Given the description of an element on the screen output the (x, y) to click on. 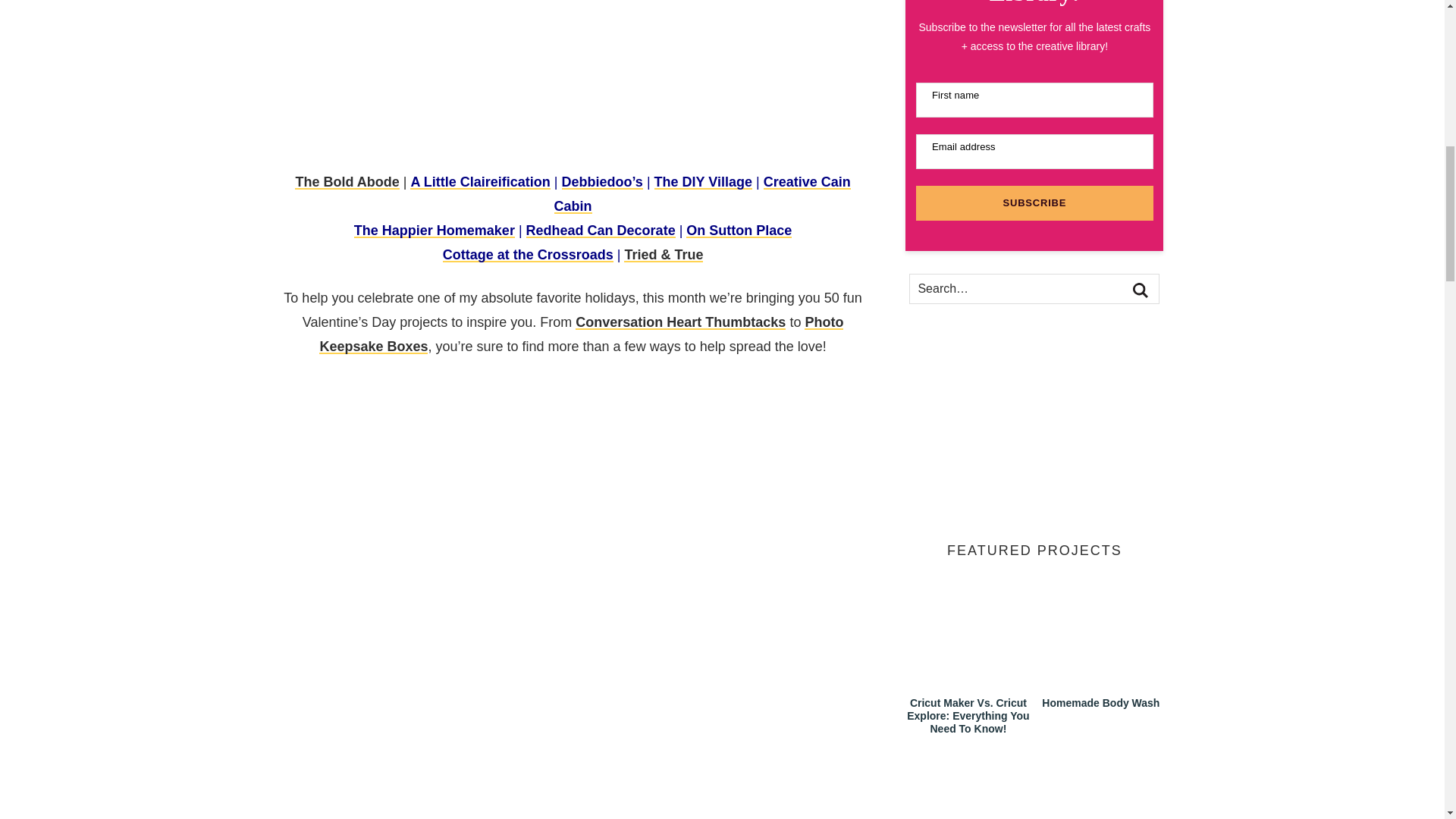
The Happier Homemaker (434, 230)
Photo Keepsake Boxes (580, 333)
Cottage At The Crossroads (527, 254)
On Sutton Place (738, 230)
Creative Cain Cabin (702, 193)
